Given the description of an element on the screen output the (x, y) to click on. 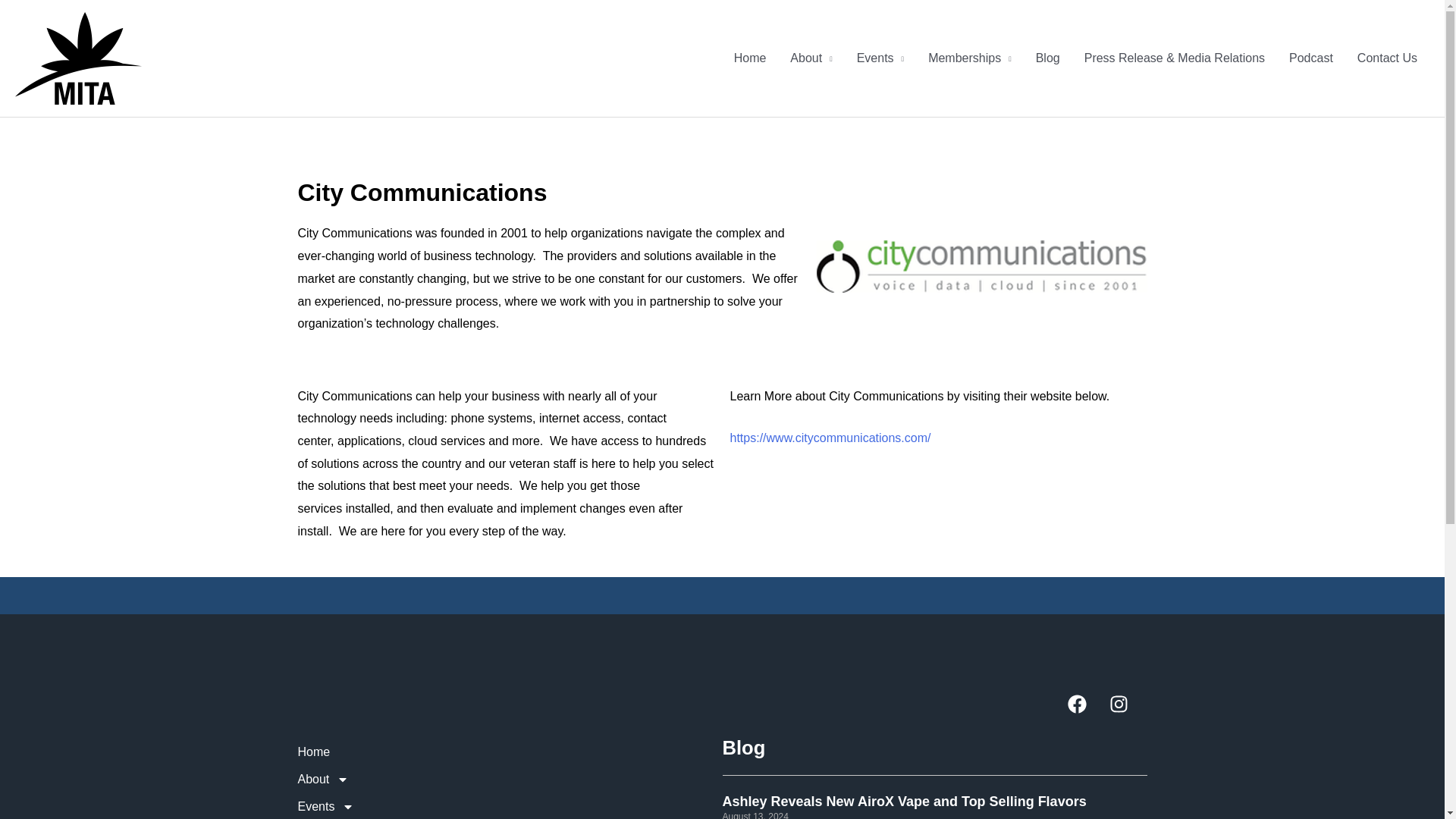
Instagram (1127, 713)
Podcast (1310, 58)
Events (879, 58)
Memberships (969, 58)
Contact Us (1387, 58)
About (810, 58)
About (509, 779)
Events (509, 806)
Home (509, 751)
Home (750, 58)
